Given the description of an element on the screen output the (x, y) to click on. 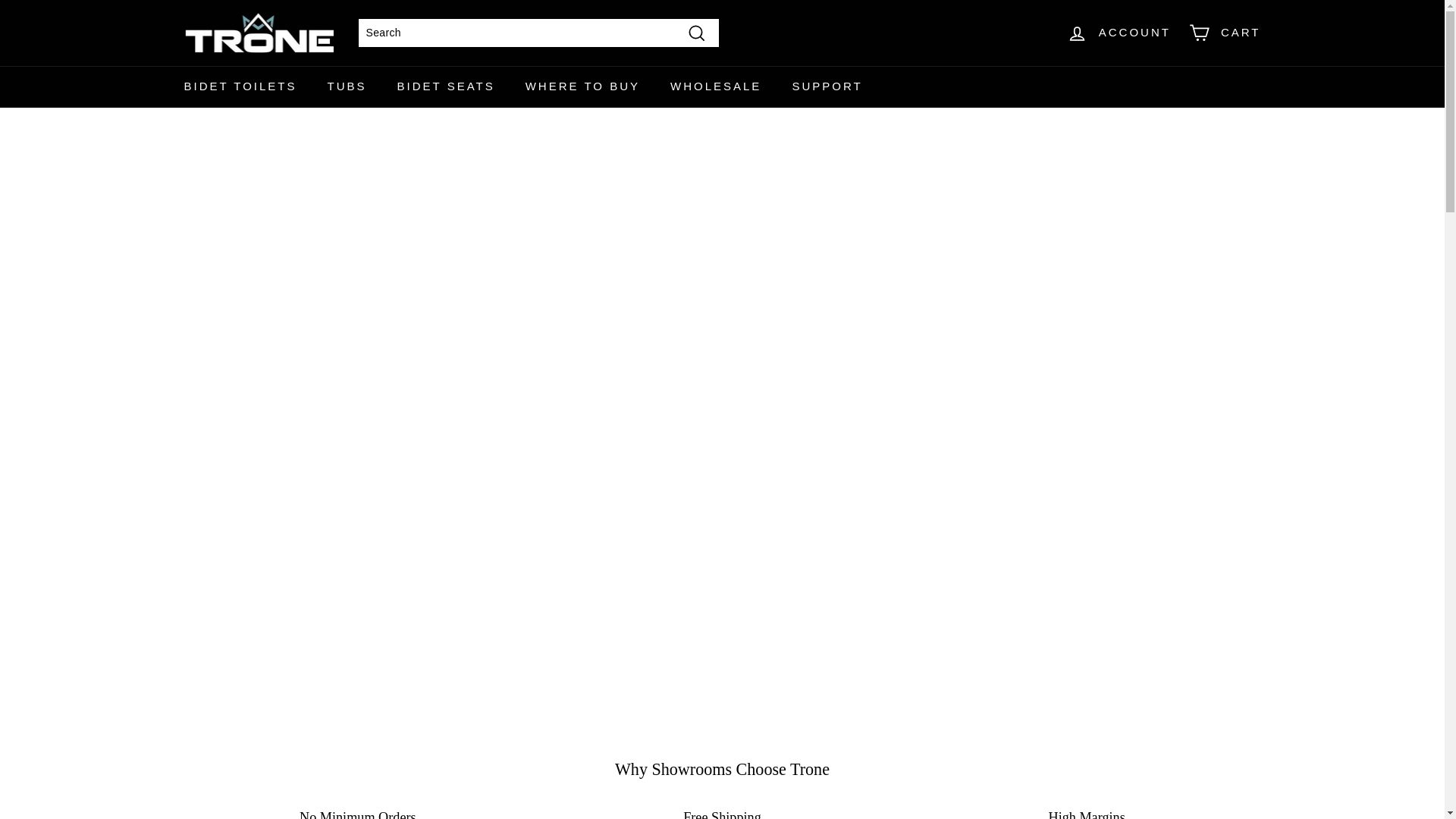
TUBS (347, 86)
ACCOUNT (1118, 32)
WHOLESALE (715, 86)
WHERE TO BUY (583, 86)
BIDET SEATS (446, 86)
BIDET TOILETS (239, 86)
SUPPORT (826, 86)
